Given the description of an element on the screen output the (x, y) to click on. 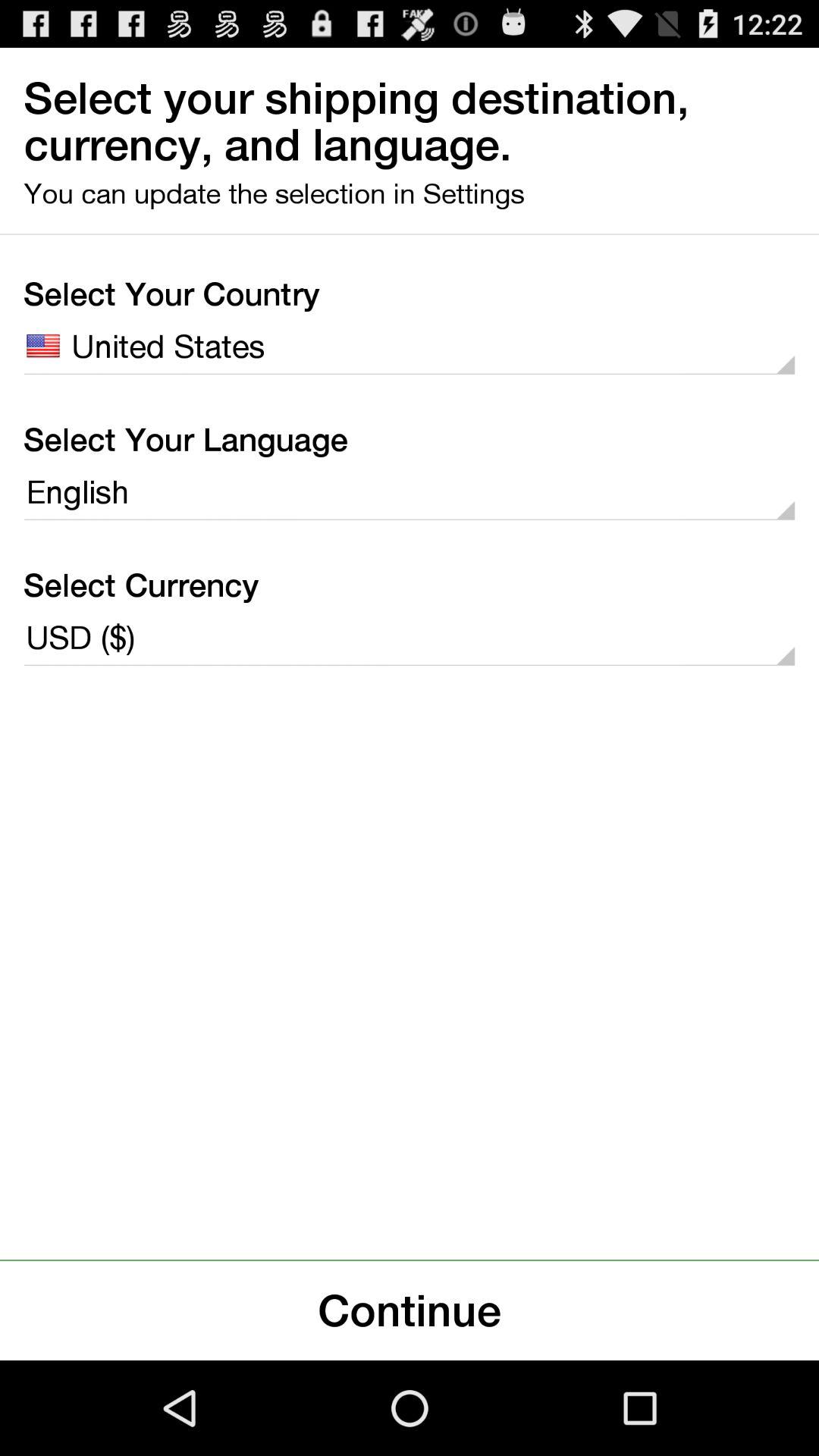
click the continue item (409, 1310)
